Given the description of an element on the screen output the (x, y) to click on. 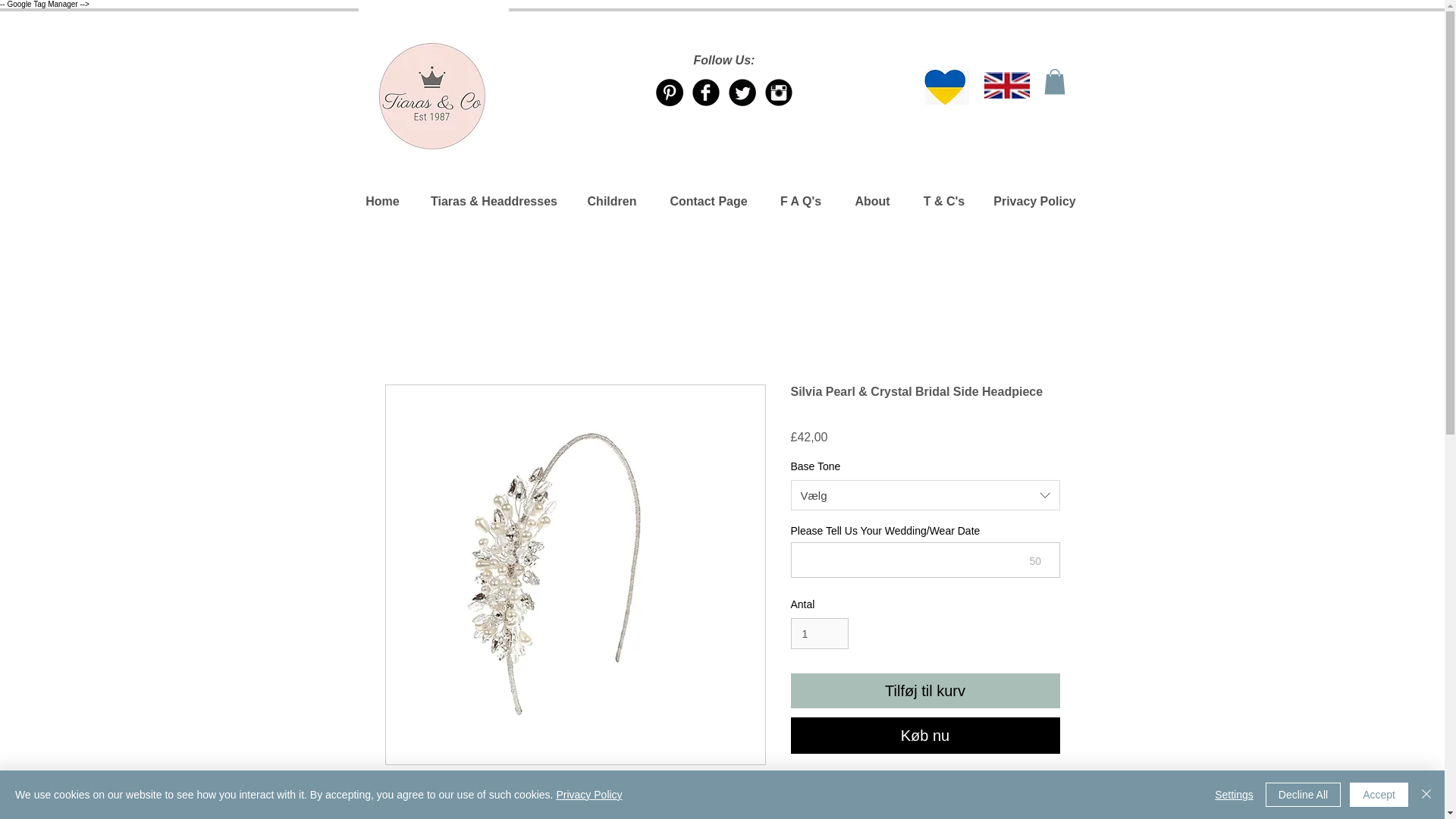
Privacy Policy (1035, 201)
About (872, 201)
F A Q's (801, 201)
Home (381, 201)
Accept (1378, 794)
1 (818, 633)
Union Jack Flag (1006, 85)
Privacy Policy (588, 794)
Contact Page (708, 201)
